Given the description of an element on the screen output the (x, y) to click on. 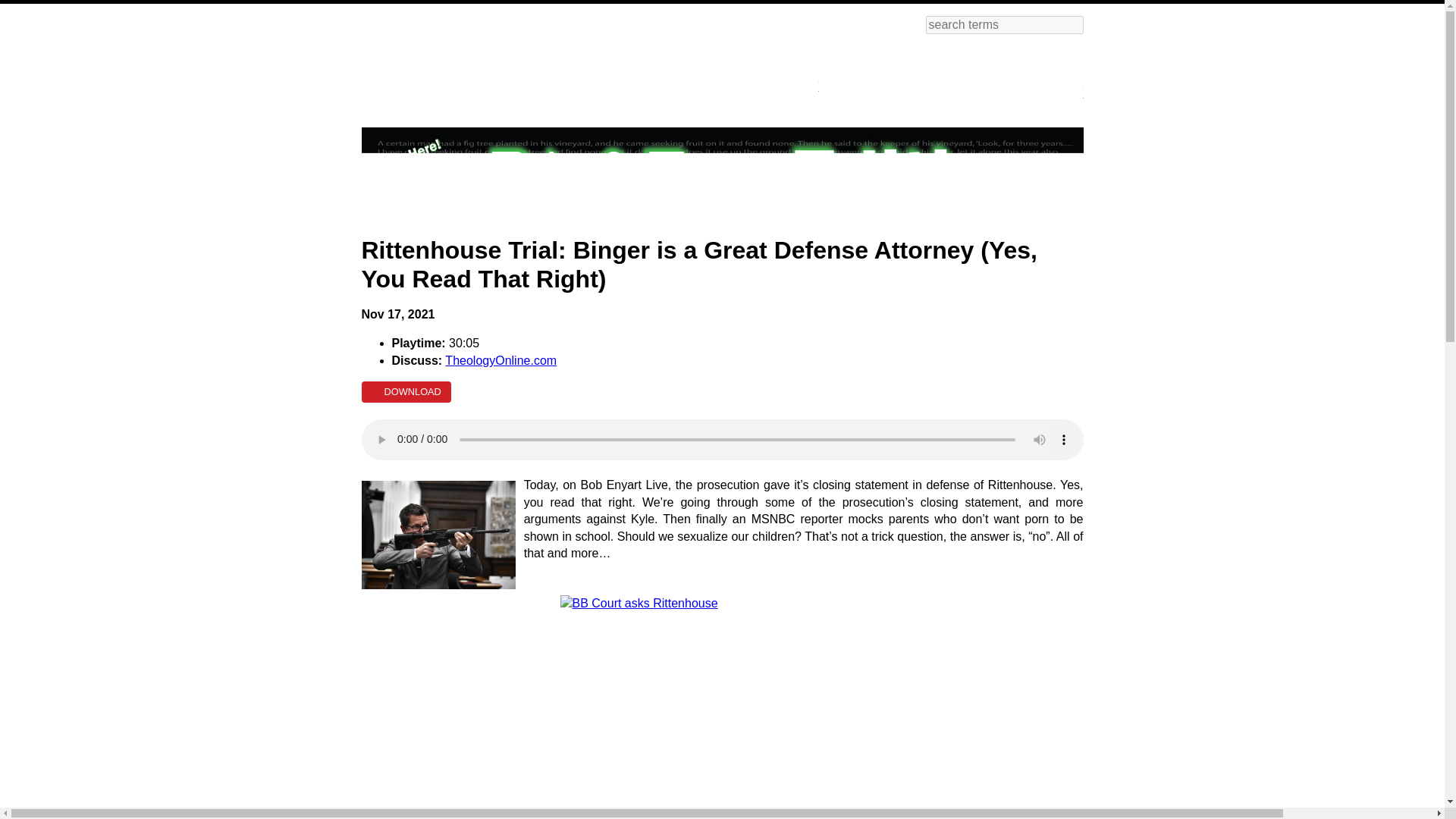
Visit Our KGOV Store (888, 77)
DOWNLOAD (405, 391)
The Dominic Enyart Show (1020, 80)
Theology Thursday (776, 77)
TheologyOnline.com (500, 359)
